Given the description of an element on the screen output the (x, y) to click on. 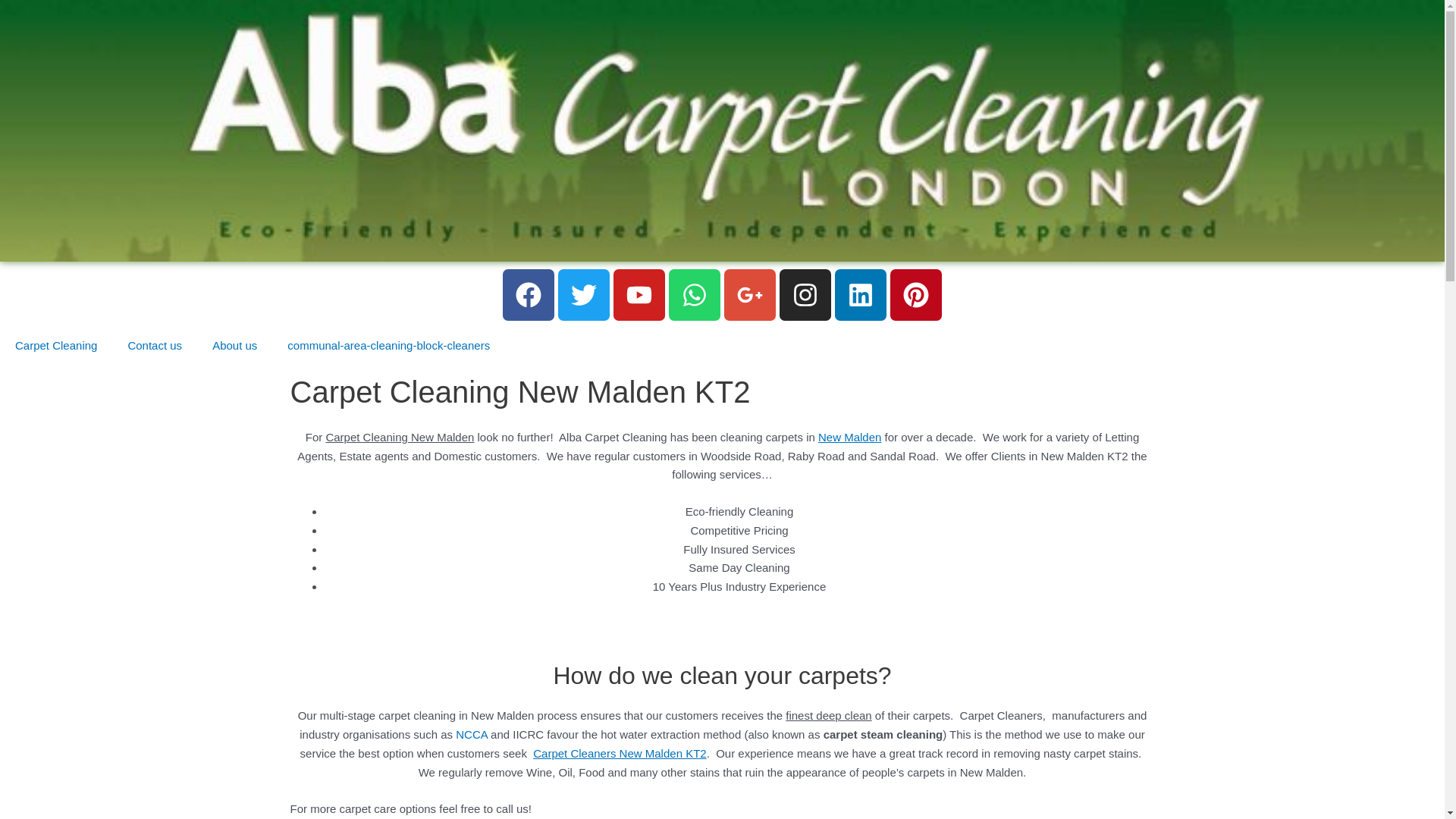
Carpet Cleaning (56, 345)
Facebook (528, 295)
Whatsapp (694, 295)
Linkedin (860, 295)
Pinterest (915, 295)
Instagram (804, 295)
Twitter (583, 295)
Google-plus-g (749, 295)
Contact us (154, 345)
communal-area-cleaning-block-cleaners (388, 345)
Youtube (638, 295)
About us (234, 345)
